Given the description of an element on the screen output the (x, y) to click on. 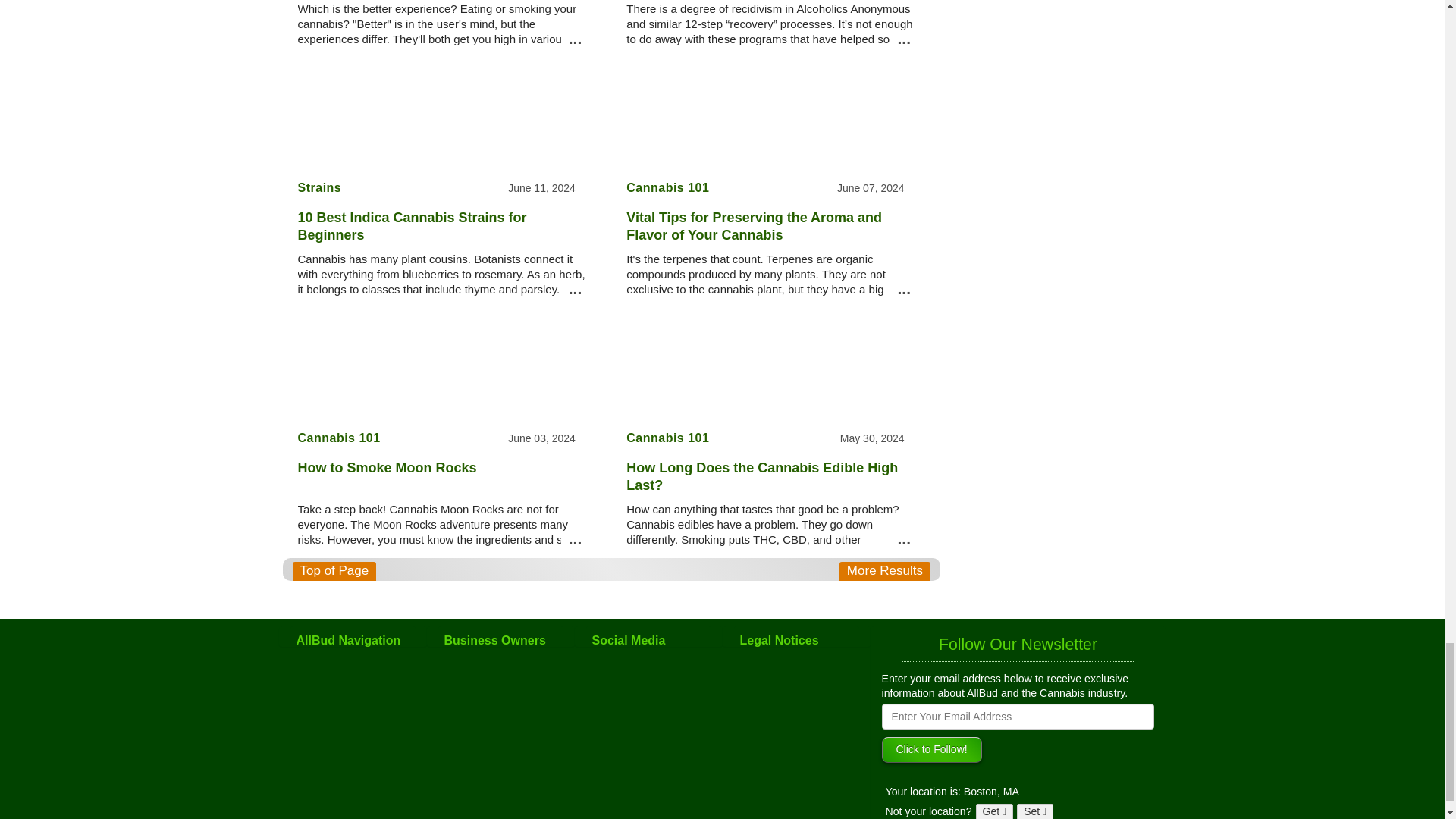
Click to Follow! (930, 749)
